Given the description of an element on the screen output the (x, y) to click on. 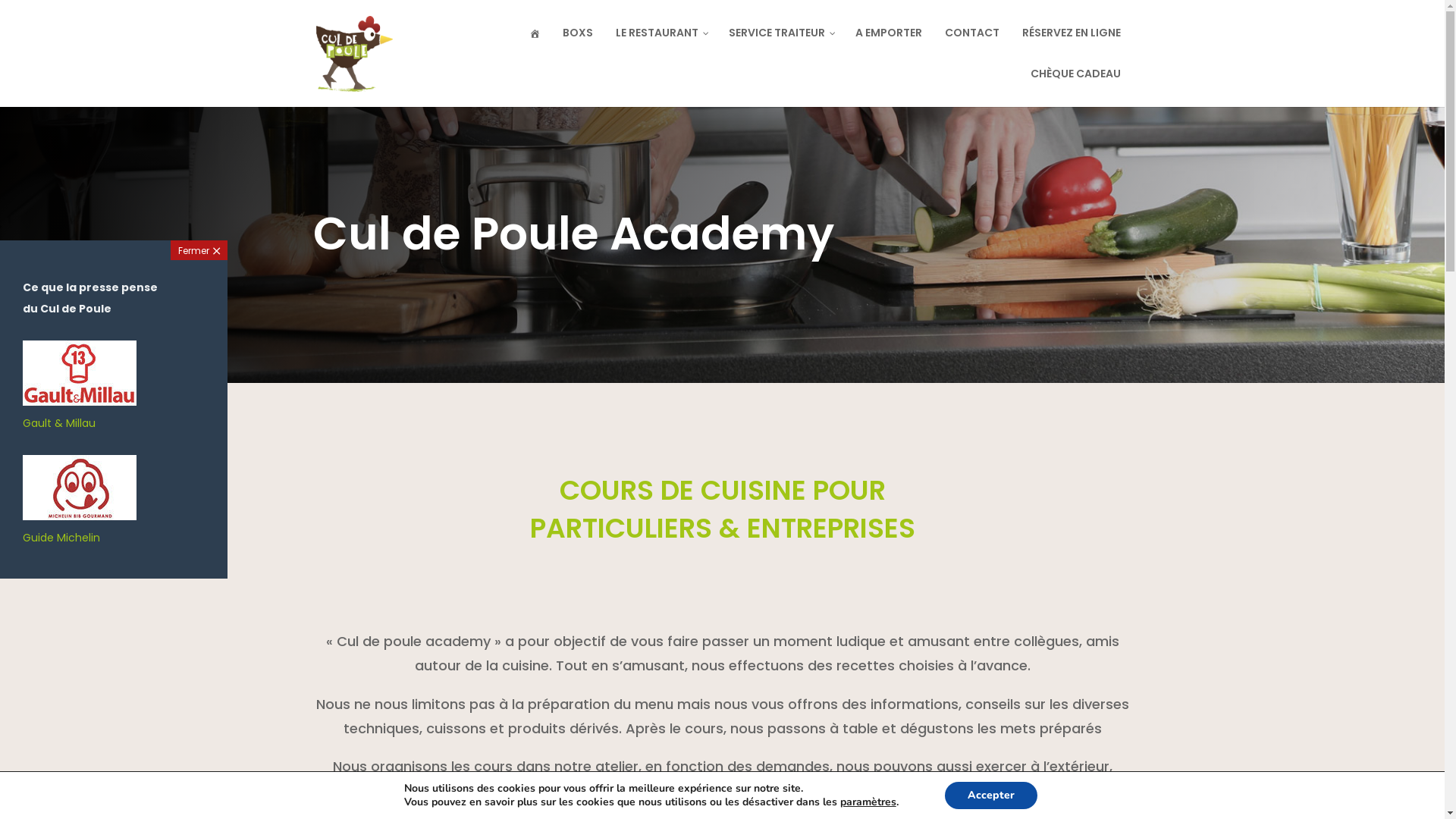
SERVICE TRAITEUR Element type: text (780, 45)
Accepter Element type: text (990, 795)
Guide Michelin Element type: text (79, 526)
LE RESTAURANT Element type: text (659, 45)
A EMPORTER Element type: text (887, 45)
CONTACT Element type: text (971, 45)
BOXS Element type: text (576, 45)
Gault & Millau Element type: text (79, 412)
